Given the description of an element on the screen output the (x, y) to click on. 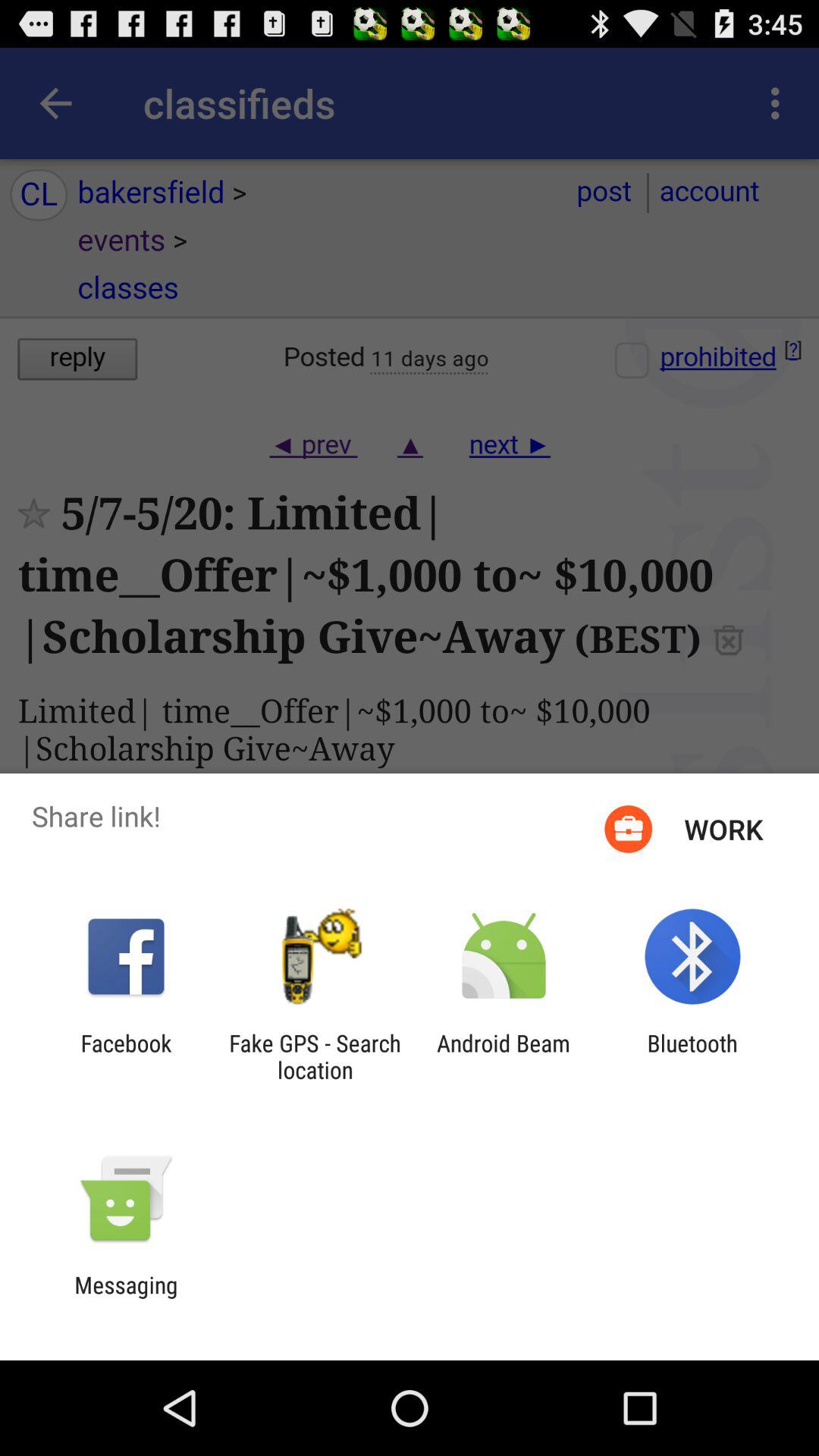
open the app to the right of the facebook item (314, 1056)
